Given the description of an element on the screen output the (x, y) to click on. 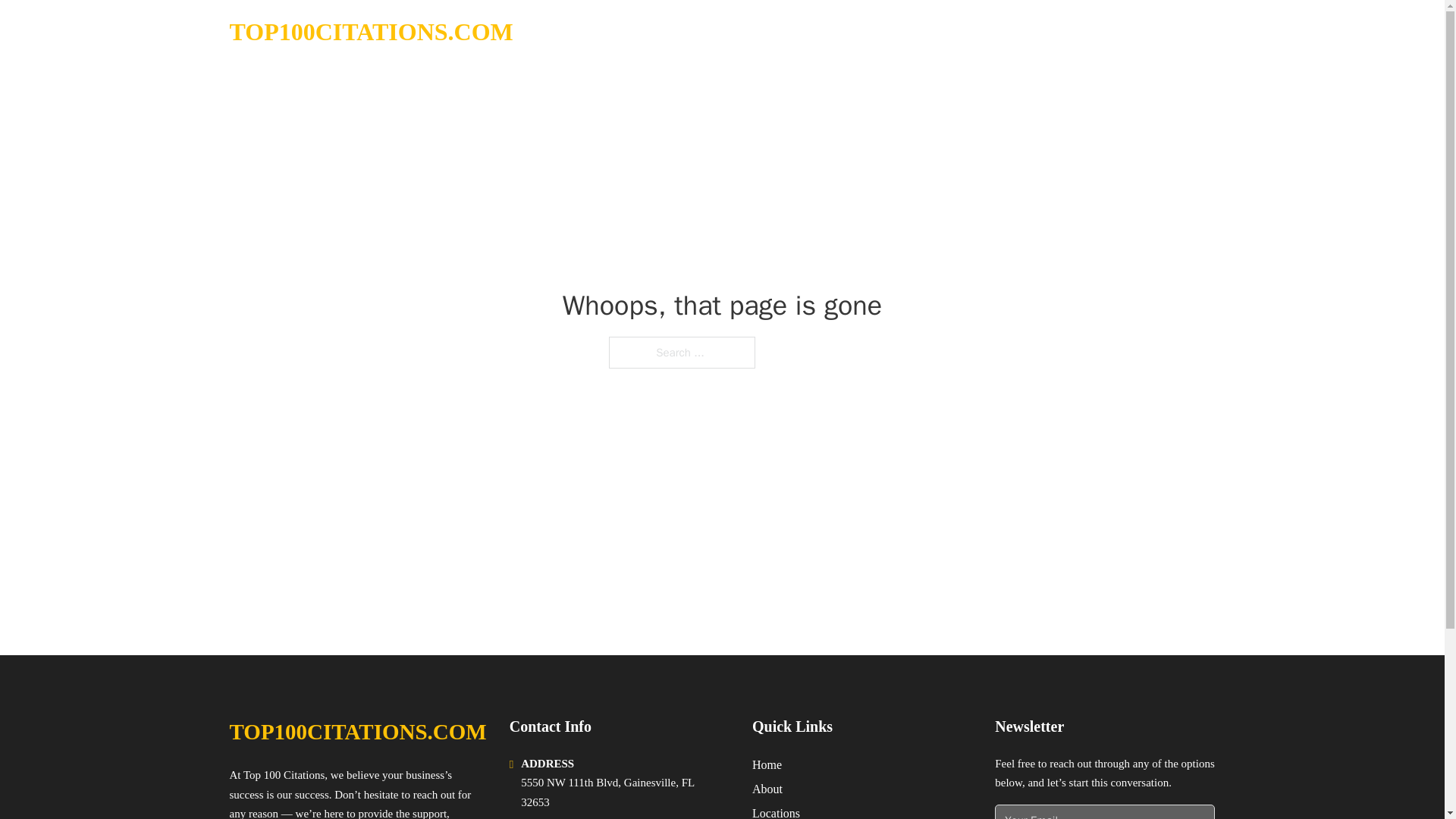
TOP100CITATIONS.COM (357, 732)
TOP100CITATIONS.COM (370, 31)
LOCATIONS (1098, 31)
About (767, 788)
HOME (1025, 31)
Locations (775, 811)
Home (766, 764)
